Given the description of an element on the screen output the (x, y) to click on. 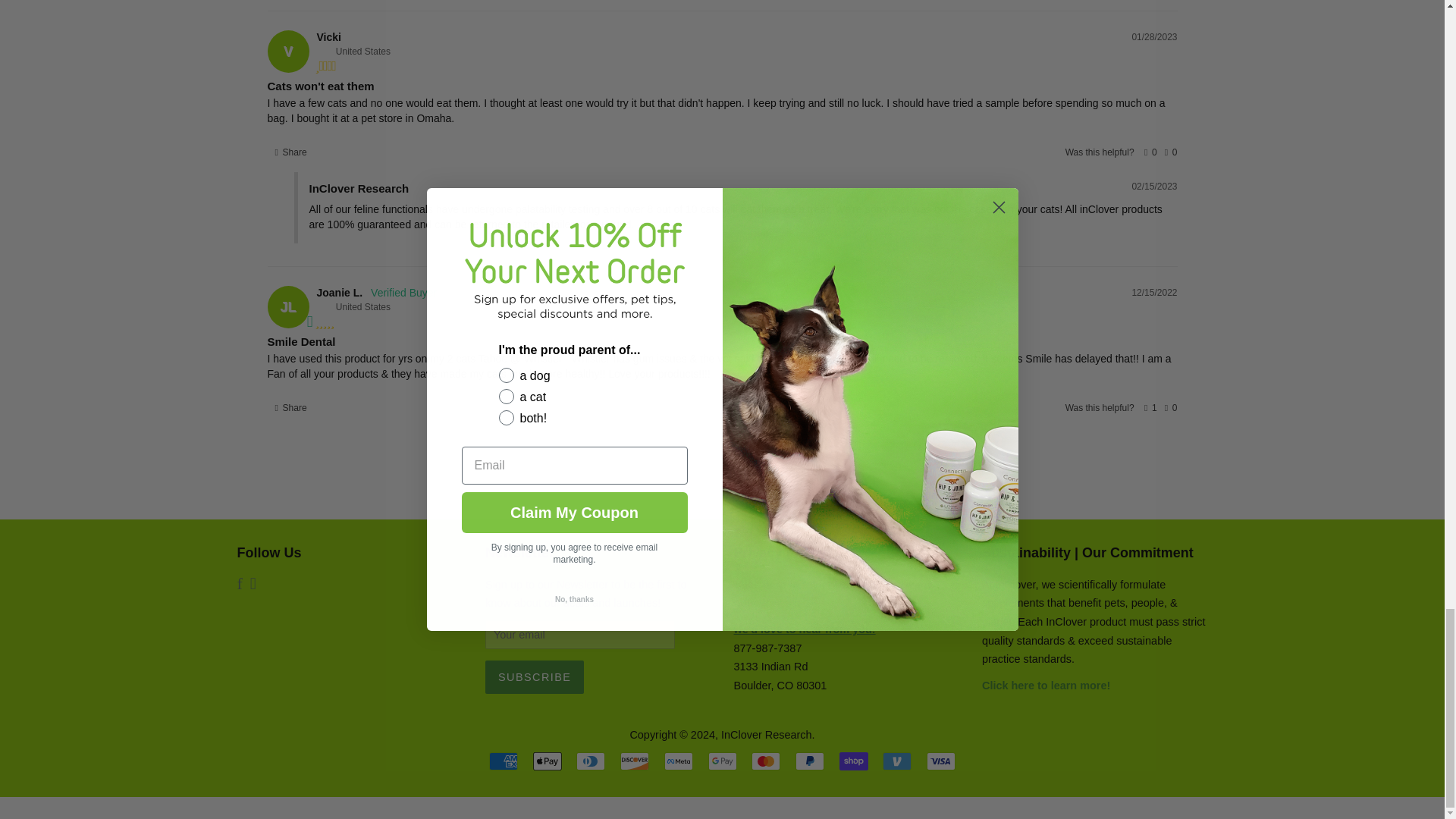
Venmo (896, 761)
American Express (503, 761)
Visa (940, 761)
Meta Pay (678, 761)
Mastercard (765, 761)
Discover (634, 761)
Subscribe (533, 676)
PayPal (809, 761)
Google Pay (721, 761)
Apple Pay (547, 761)
Diners Club (590, 761)
Shop Pay (853, 761)
